Given the description of an element on the screen output the (x, y) to click on. 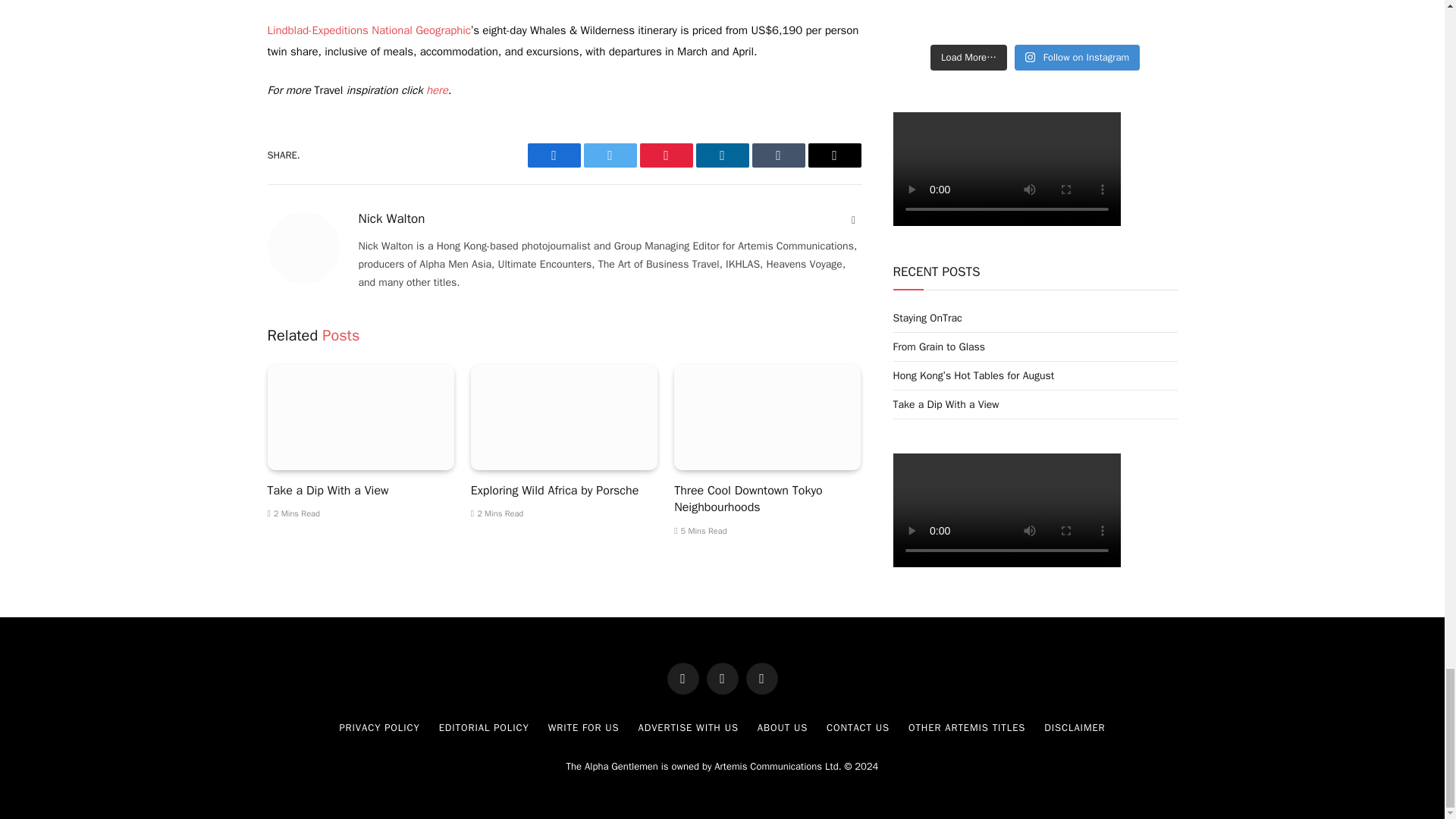
Share on Pinterest (666, 155)
LinkedIn (853, 220)
Take a Dip With a View (359, 417)
Share on Facebook (553, 155)
Exploring Wild Africa by Porsche (564, 417)
Share on Tumblr (778, 155)
Share on LinkedIn (722, 155)
Posts by Nick Walton (391, 218)
Share via Email (834, 155)
